Given the description of an element on the screen output the (x, y) to click on. 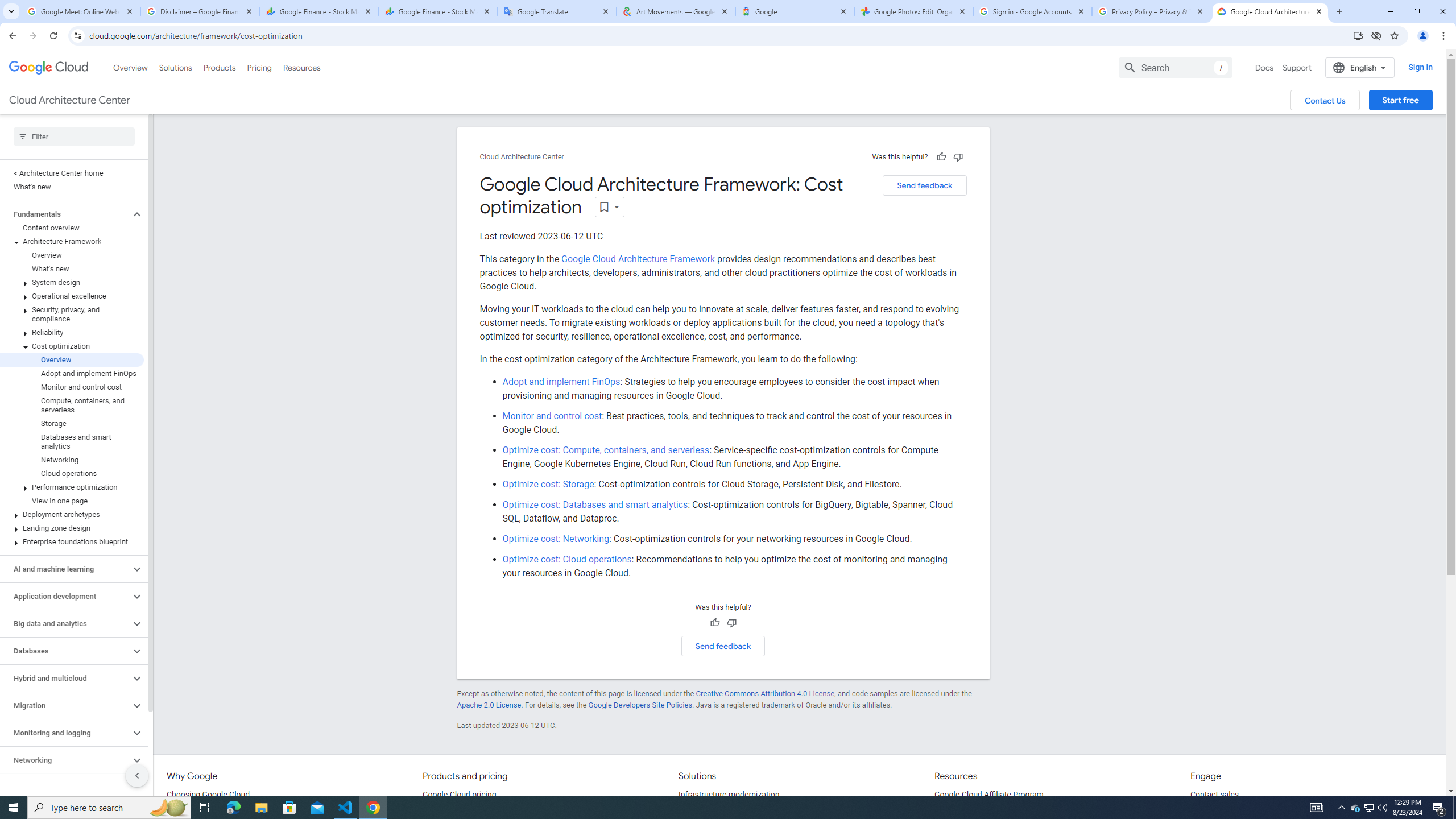
Cost optimization (72, 345)
Architecture Framework (72, 241)
Optimize cost: Cloud operations (566, 559)
Open dropdown (609, 206)
Creative Commons Attribution 4.0 License (764, 693)
Content overview (72, 228)
Security, privacy, and compliance (72, 314)
Docs, selected (1264, 67)
Enterprise foundations blueprint (72, 541)
Performance optimization (72, 486)
Google Cloud (48, 67)
